Given the description of an element on the screen output the (x, y) to click on. 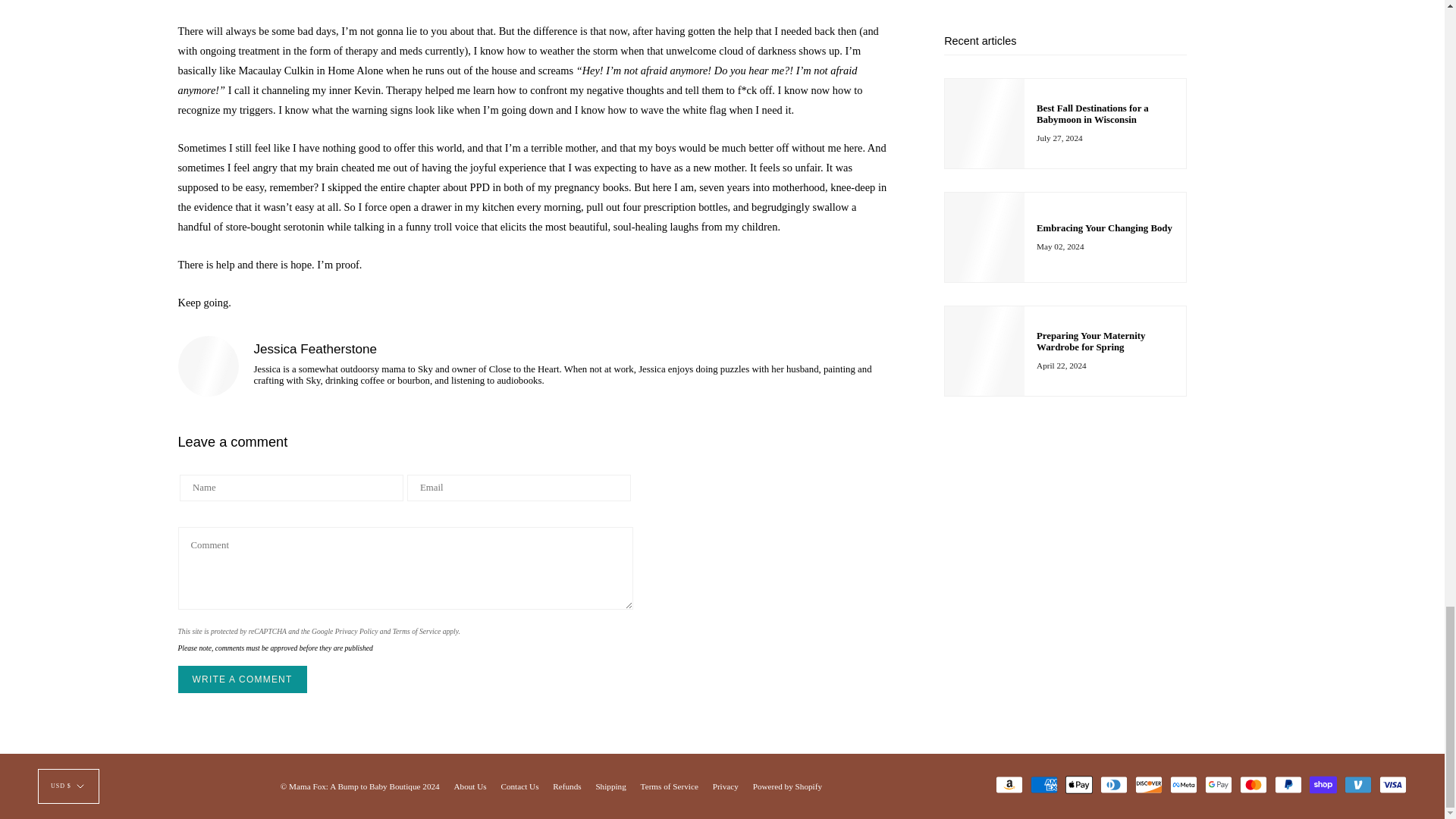
Google Pay (1218, 784)
Diners Club (1113, 784)
PayPal (1288, 784)
Mastercard (1253, 784)
Write a comment (241, 678)
American Express (1044, 784)
Meta Pay (1183, 784)
Apple Pay (1079, 784)
Discover (1148, 784)
Amazon (1009, 784)
Shop Pay (1322, 784)
